Given the description of an element on the screen output the (x, y) to click on. 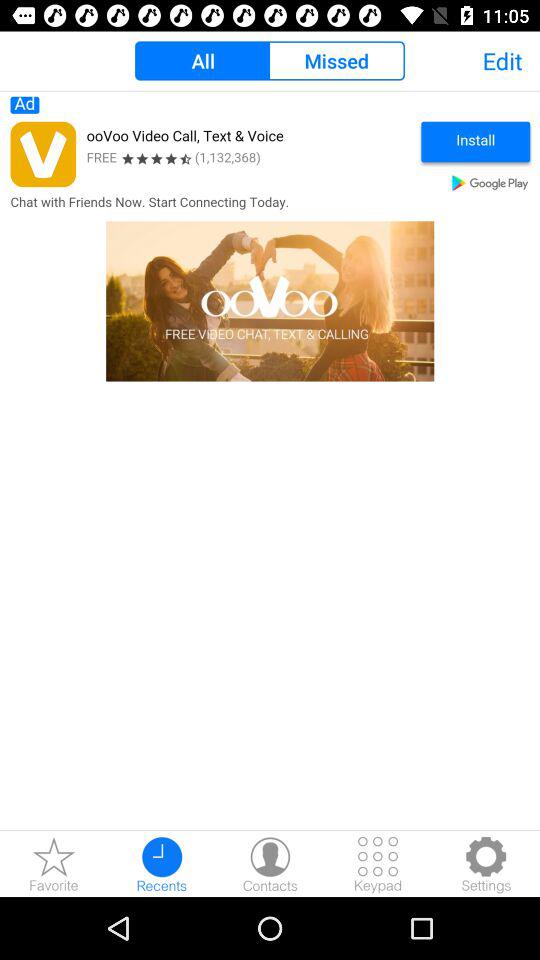
setting button (485, 864)
